Given the description of an element on the screen output the (x, y) to click on. 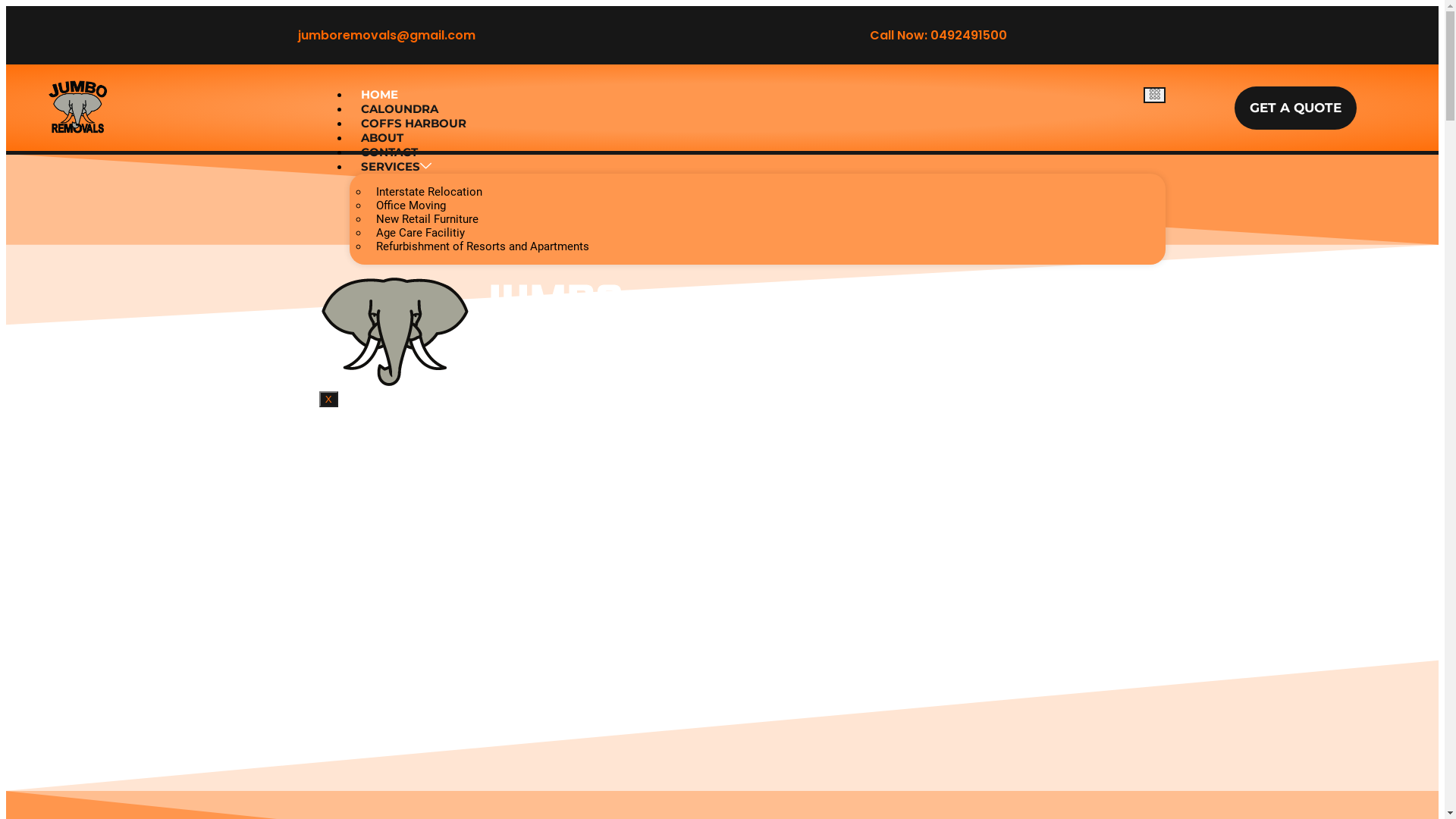
CONTACT Element type: text (389, 151)
HOME Element type: text (379, 94)
SERVICES Element type: text (395, 166)
Age Care Facilitiy Element type: text (420, 232)
COFFS HARBOUR Element type: text (413, 123)
Office Moving Element type: text (410, 205)
ABOUT Element type: text (381, 137)
X Element type: text (328, 399)
jumboremovals@gmail.com Element type: text (385, 34)
Interstate Relocation Element type: text (428, 191)
GET A QUOTE Element type: text (1295, 107)
New Retail Furniture Element type: text (427, 218)
Refurbishment of Resorts and Apartments Element type: text (482, 246)
CALOUNDRA Element type: text (399, 108)
